Given the description of an element on the screen output the (x, y) to click on. 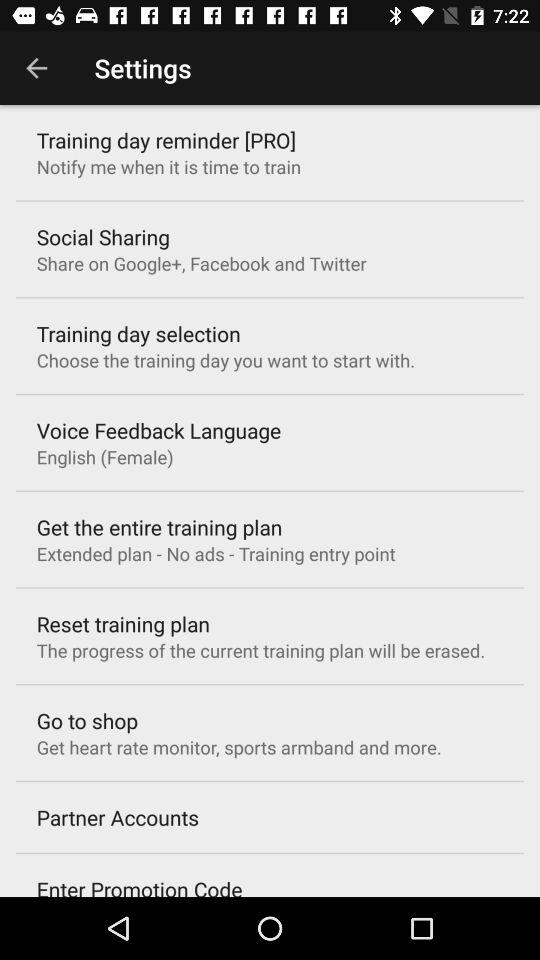
jump until english (female) item (104, 456)
